Given the description of an element on the screen output the (x, y) to click on. 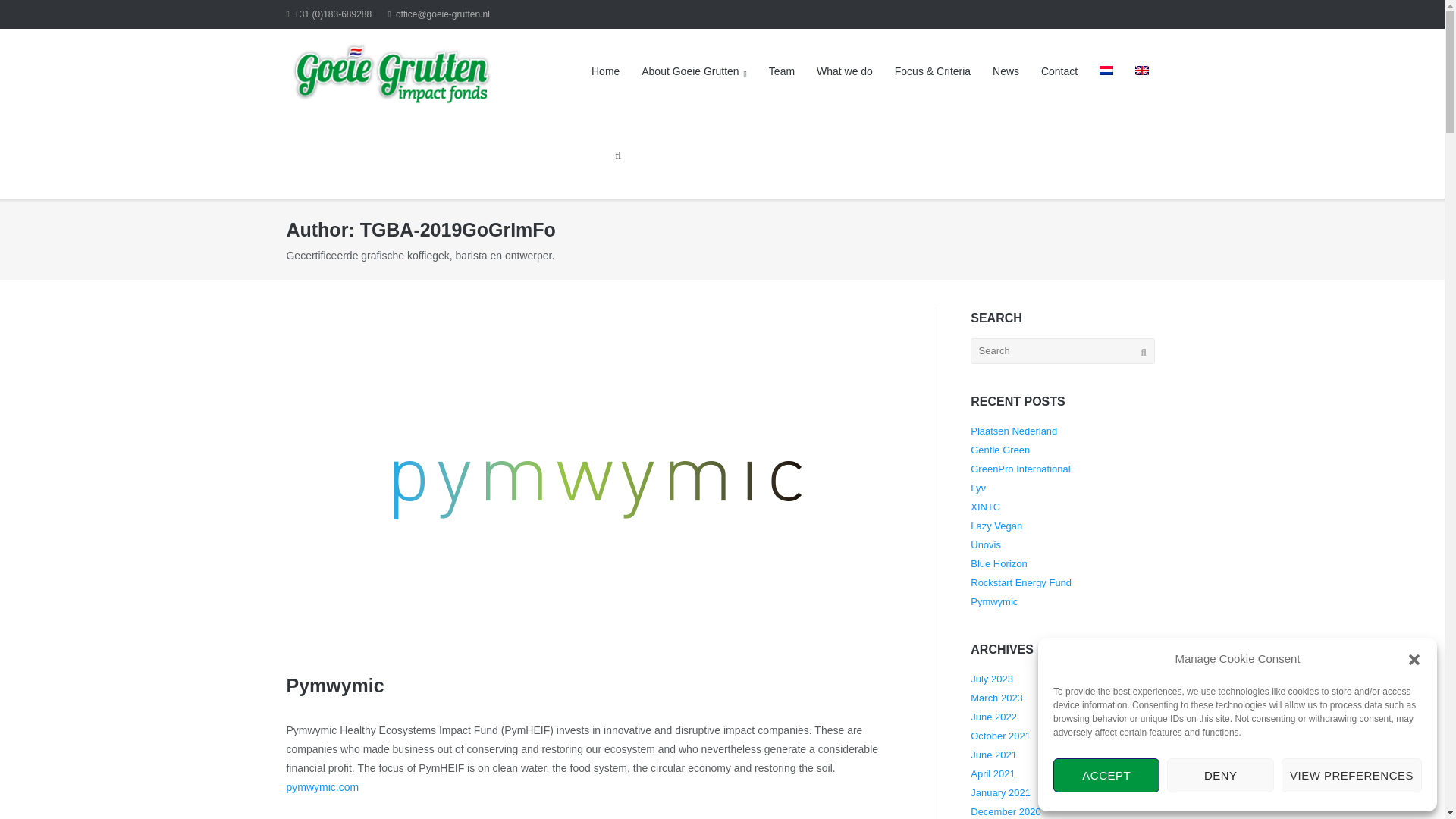
VIEW PREFERENCES (1351, 775)
Pymwymic (334, 685)
pymwymic.com (321, 787)
ACCEPT (1105, 775)
DENY (1219, 775)
About Goeie Grutten (694, 70)
